Given the description of an element on the screen output the (x, y) to click on. 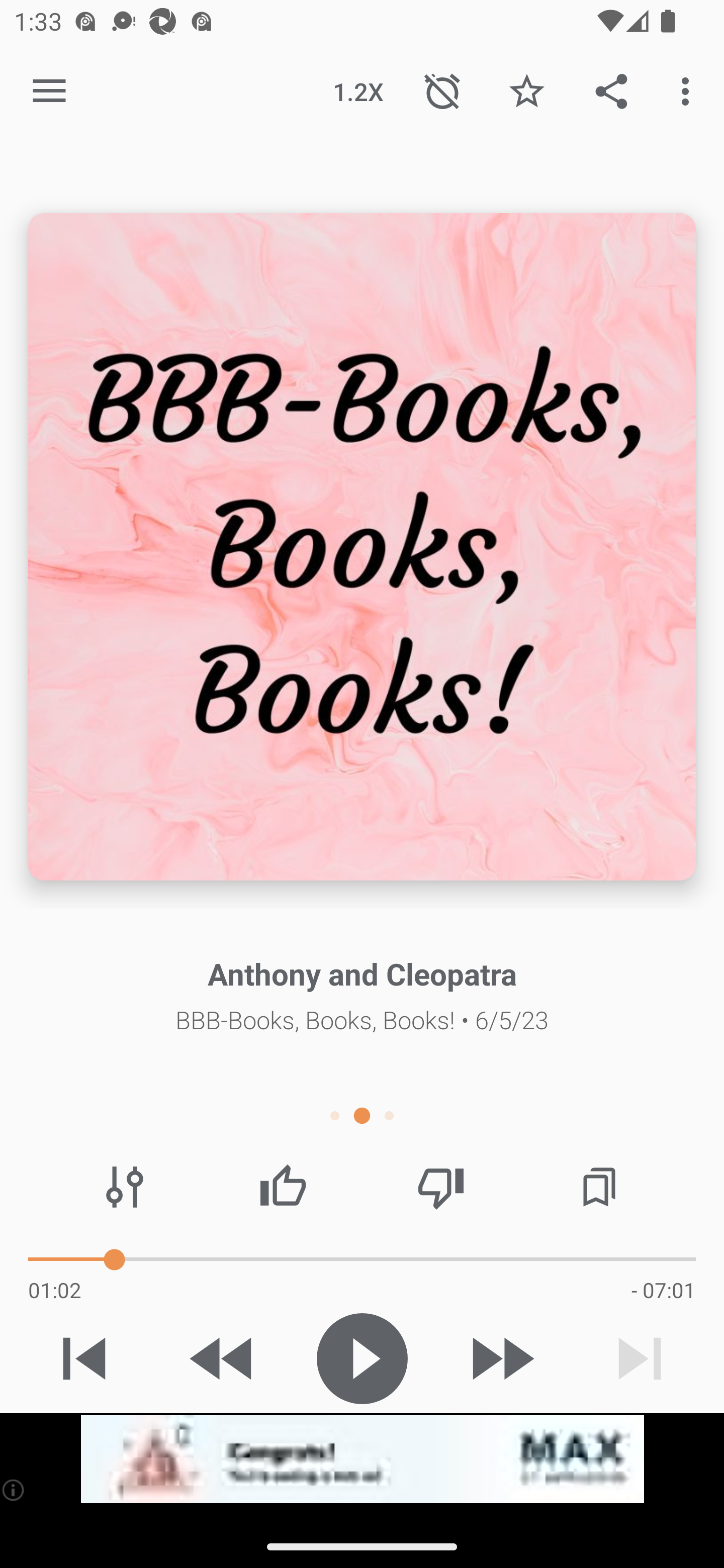
Open navigation sidebar (49, 91)
1.2X (357, 90)
Sleep Timer (442, 90)
Favorite (526, 90)
Share (611, 90)
More options (688, 90)
Episode description (361, 547)
Audio effects (124, 1186)
Thumbs up (283, 1186)
Thumbs down (440, 1186)
Chapters / Bookmarks (598, 1186)
- 07:01 (663, 1289)
Previous track (84, 1358)
Skip 15s backward (222, 1358)
Play / Pause (362, 1358)
Skip 30s forward (500, 1358)
Next track (639, 1358)
app-monetization (362, 1459)
(i) (14, 1489)
